Given the description of an element on the screen output the (x, y) to click on. 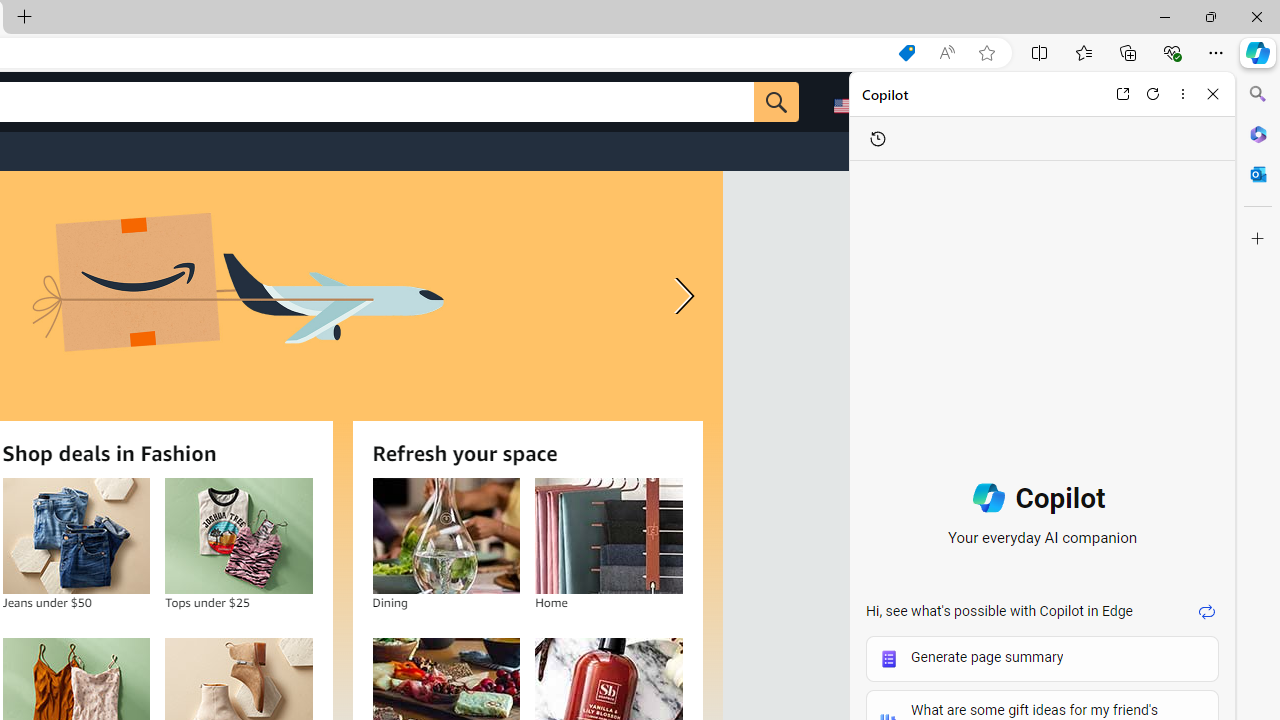
Tops under $25 (238, 536)
Returns & Orders (1077, 101)
Dining (445, 536)
Tops under $25 (239, 536)
Jeans under $50 (75, 536)
Hello, sign in Account & Lists (967, 101)
Dining (445, 536)
